Given the description of an element on the screen output the (x, y) to click on. 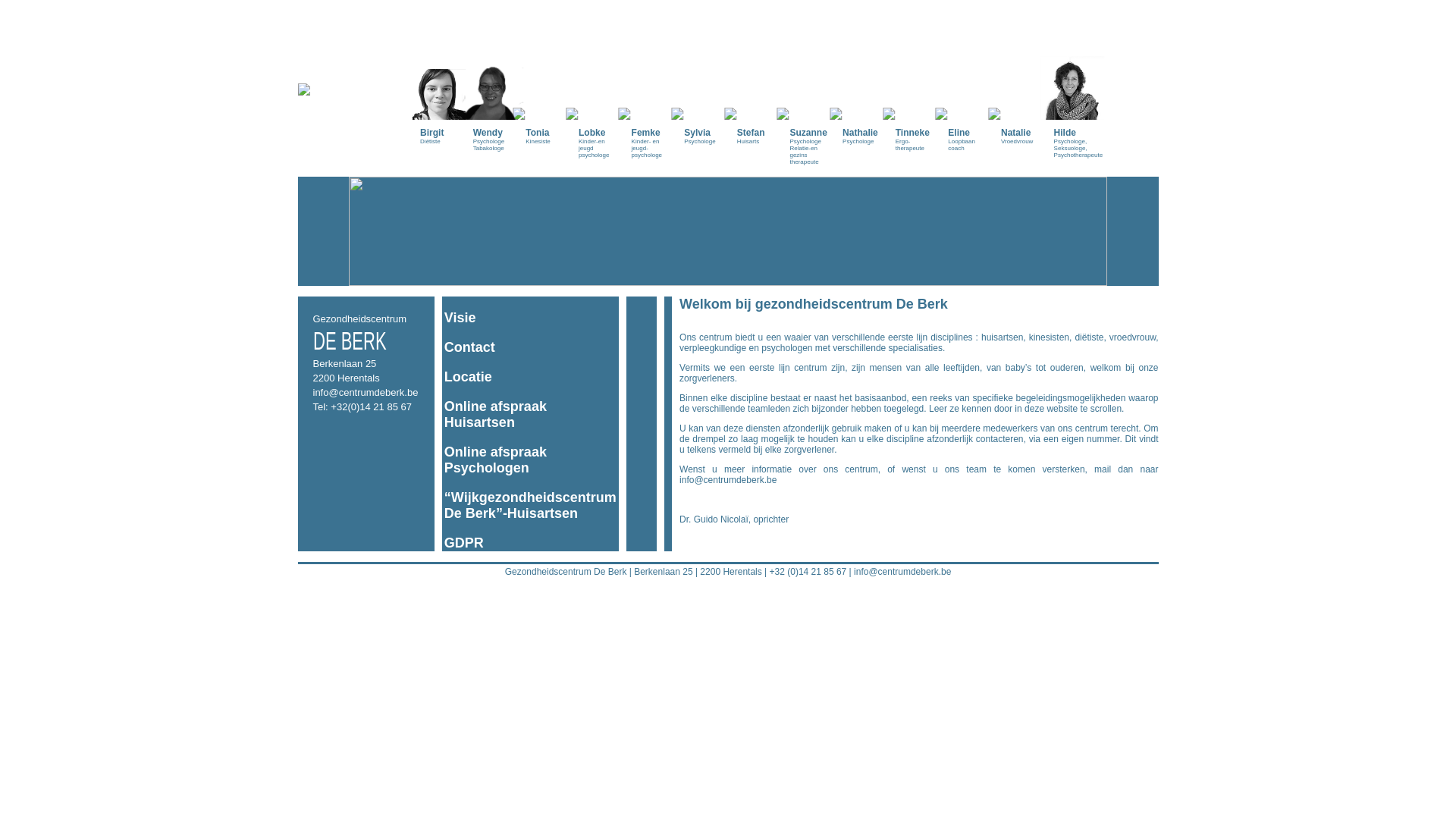
info@centrumdeberk.be Element type: text (364, 392)
Eline
Loopbaan coach Element type: text (966, 82)
Visie Element type: text (460, 317)
GDPR Element type: text (463, 542)
Femke
Kinder- en jeugd-psychologe Element type: text (650, 86)
Locatie Element type: text (468, 376)
Nathalie
Psychologe Element type: text (861, 79)
Sylvia
Psychologe Element type: text (702, 79)
Tinneke
Ergo-therapeute Element type: text (914, 82)
Online afspraak Psychologen Element type: text (495, 459)
Tel: +32(0)14 21 85 67 Element type: text (361, 406)
Suzanne
Psychologe Relatie-en gezins therapeute Element type: text (807, 89)
Wendy
Psychologe
Tabakologe Element type: text (491, 82)
Lobke
Kinder-en jeugd psychologe Element type: text (597, 86)
Tonia
Kinesiste Element type: text (544, 79)
Online afspraak Huisartsen Element type: text (495, 413)
Stefan
Huisarts Element type: text (755, 79)
Hilde
Psychologe, Seksuologe, Psychotherapeute Element type: text (1072, 86)
Natalie
Vroedvrouw Element type: text (1019, 79)
Contact Element type: text (469, 346)
